Given the description of an element on the screen output the (x, y) to click on. 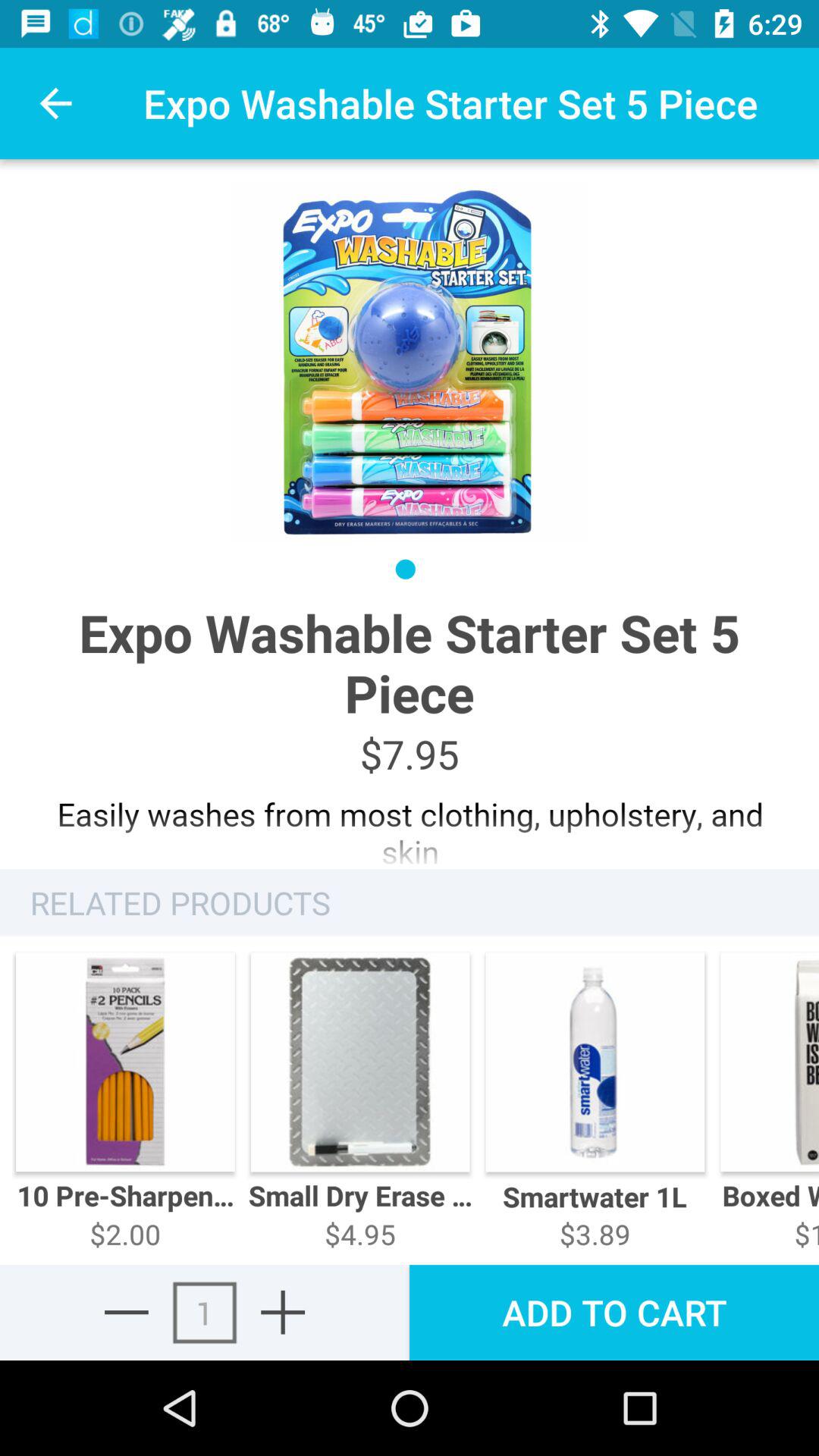
zoom in the option (282, 1312)
